Given the description of an element on the screen output the (x, y) to click on. 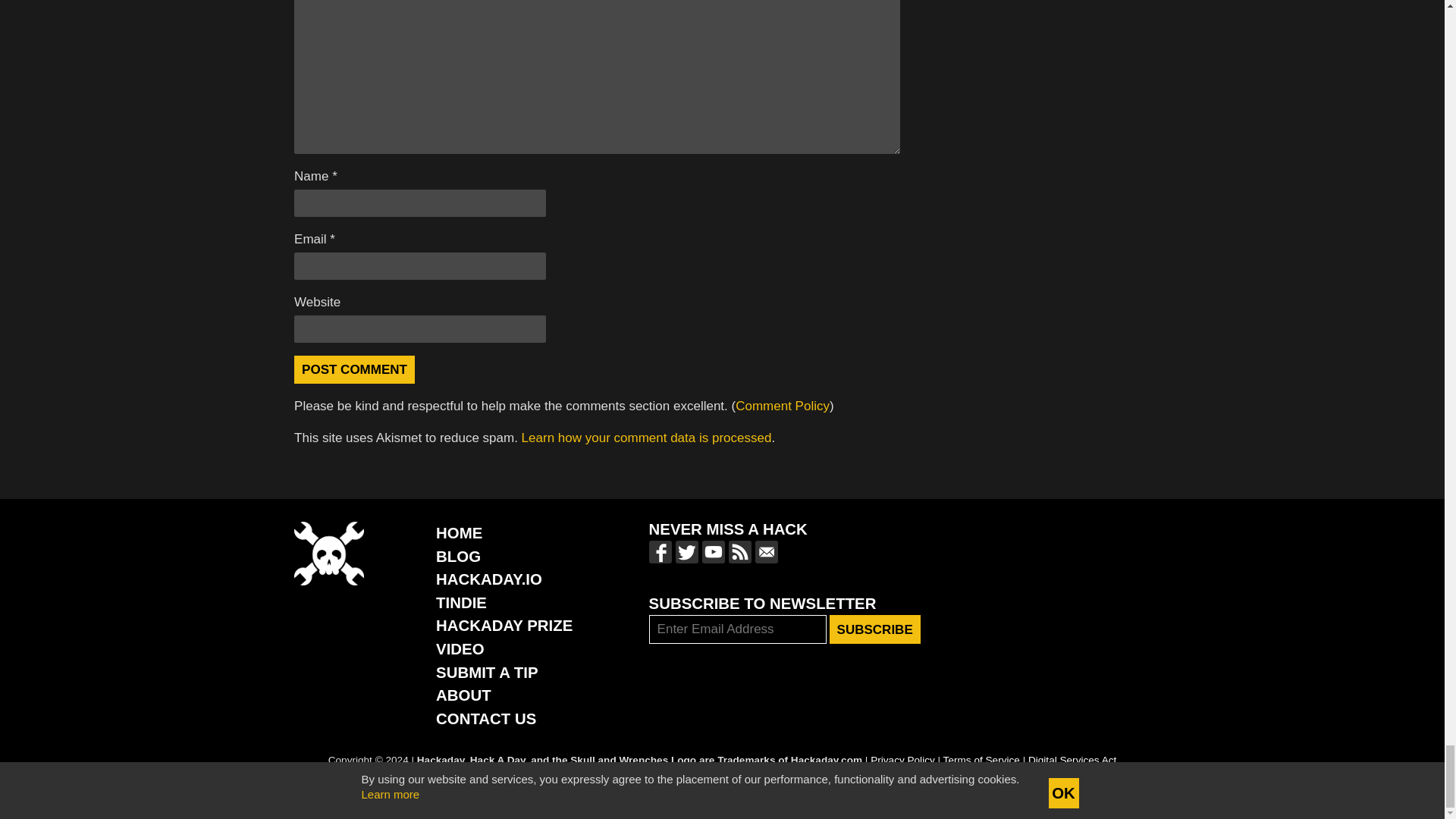
Post Comment (354, 369)
Build Something that Matters (503, 625)
Subscribe (874, 629)
